Given the description of an element on the screen output the (x, y) to click on. 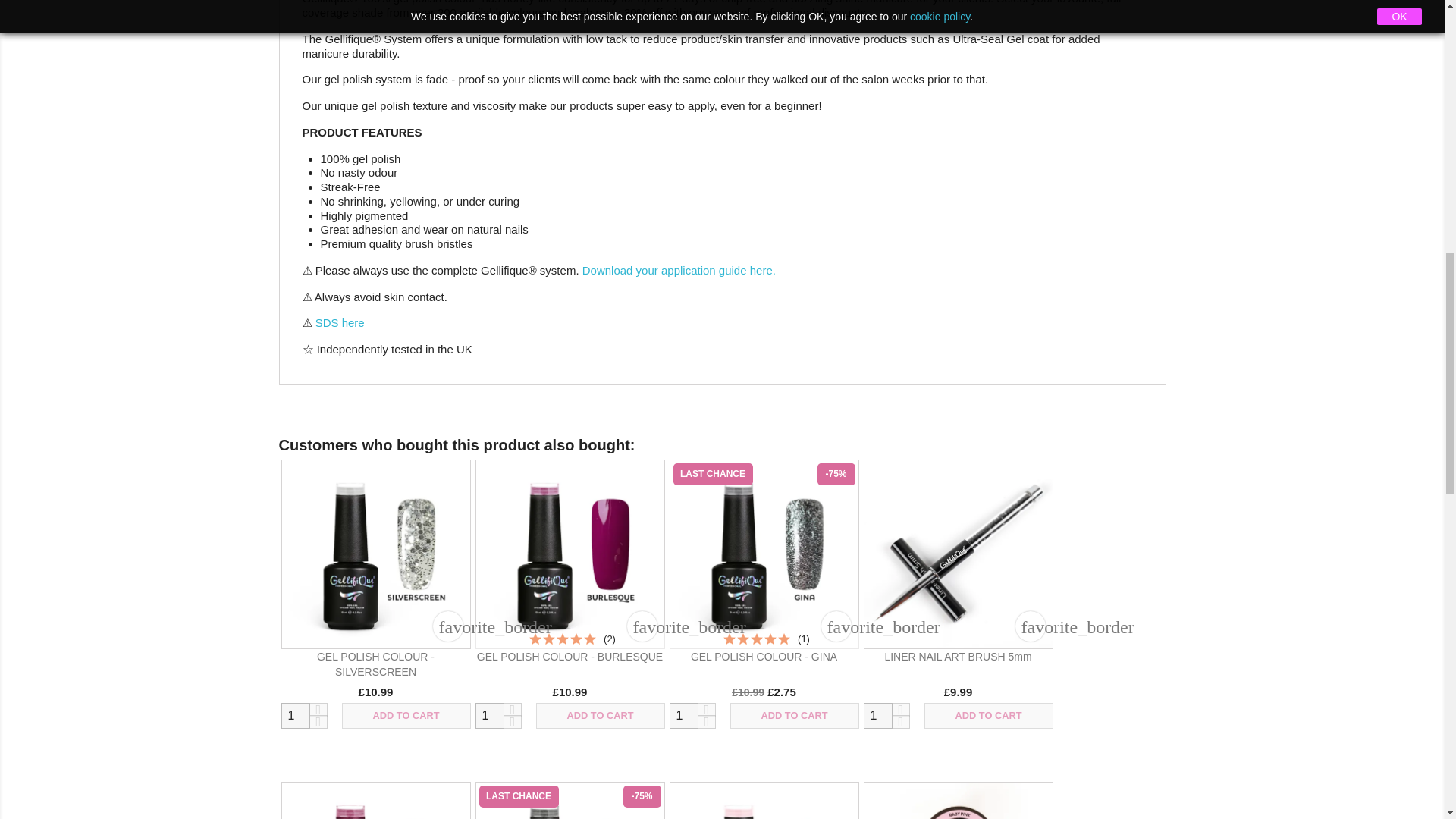
1 (294, 715)
1 (488, 715)
1 (682, 715)
1 (877, 715)
